Given the description of an element on the screen output the (x, y) to click on. 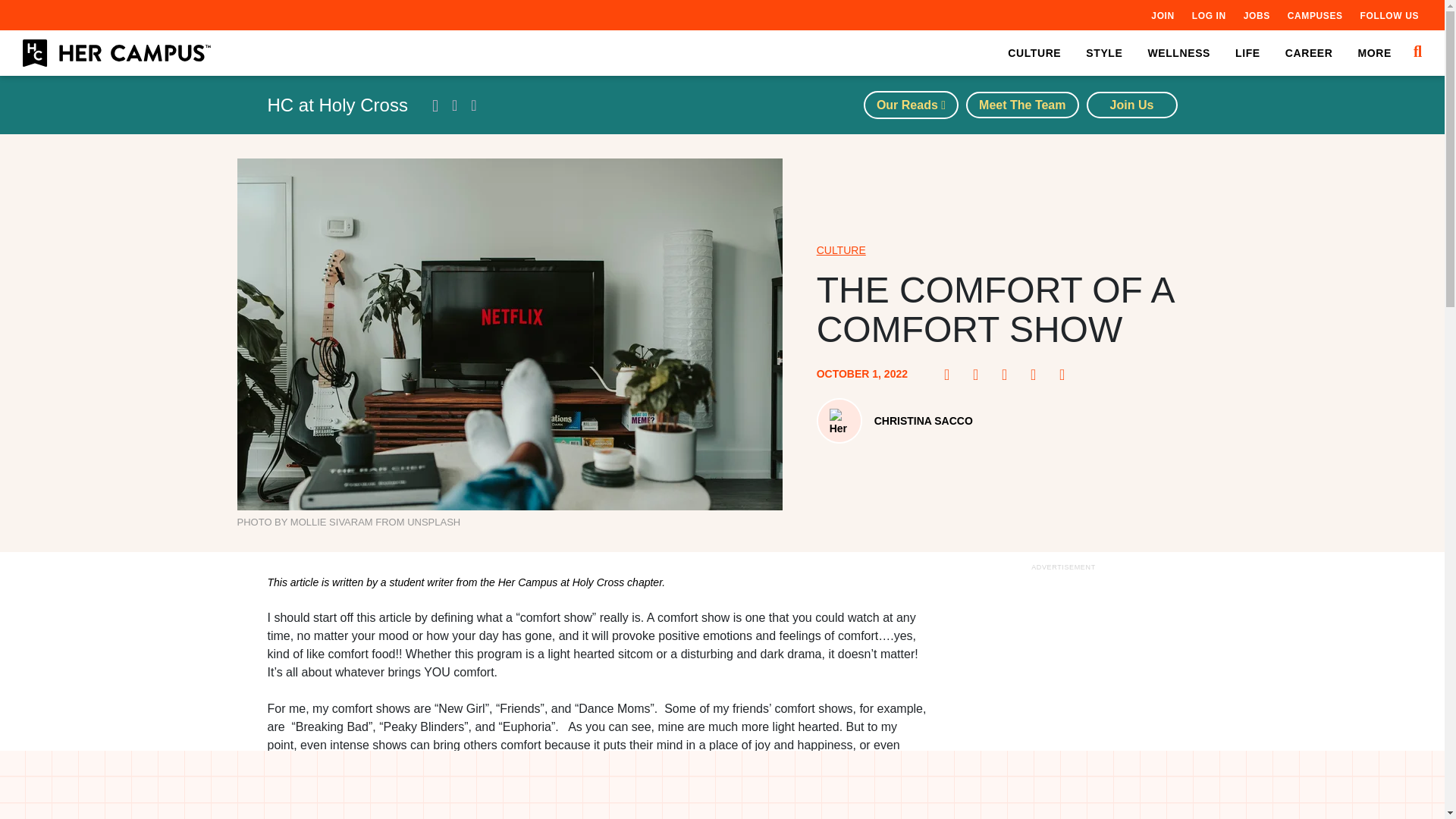
Facebook (951, 374)
Twitter (1008, 374)
Pinterest (980, 374)
JOBS (1256, 15)
Email (1066, 374)
JOIN (1162, 15)
LOG IN (1208, 15)
CAMPUSES (1314, 15)
LinkedIn (1037, 374)
